Given the description of an element on the screen output the (x, y) to click on. 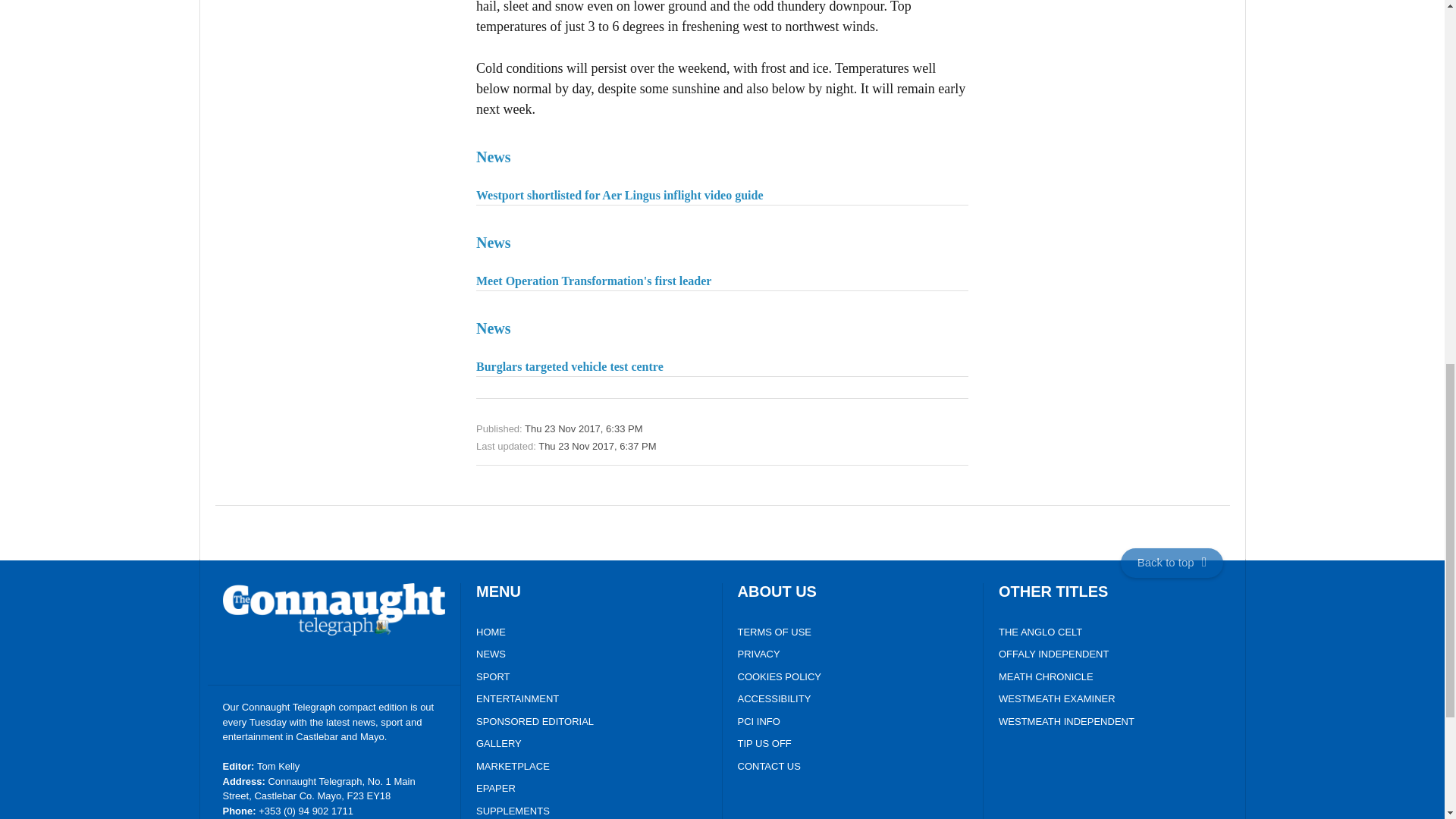
Burglars targeted vehicle test centre (722, 343)
Westport shortlisted for Aer Lingus inflight video guide (722, 172)
Meet Operation Transformation's first leader (722, 258)
